Given the description of an element on the screen output the (x, y) to click on. 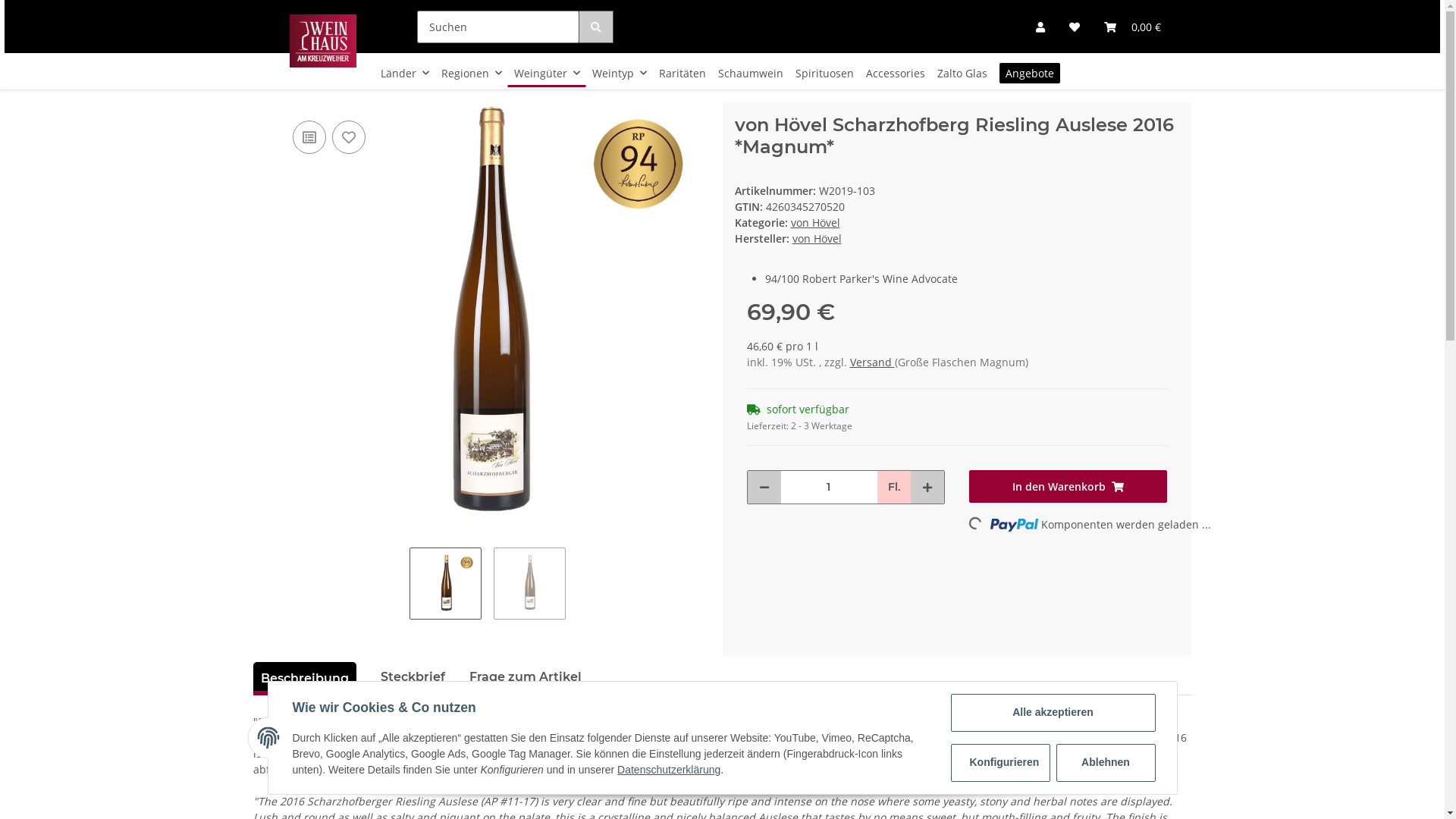
Ablehnen Element type: text (1104, 762)
Steckbrief Element type: text (412, 677)
Regionen Element type: text (471, 73)
Accessories Element type: text (895, 73)
Frage zum Artikel Element type: text (525, 677)
Weintyp Element type: text (619, 73)
In den Warenkorb Element type: text (1068, 486)
Beschreibung Element type: text (304, 678)
Zalto Glas Element type: text (962, 73)
Spirituosen Element type: text (824, 73)
Versand Element type: text (871, 361)
Alle akzeptieren Element type: text (1052, 712)
Schaumwein Element type: text (750, 73)
Angebote Element type: text (1029, 73)
Konfigurieren Element type: text (1000, 762)
